Given the description of an element on the screen output the (x, y) to click on. 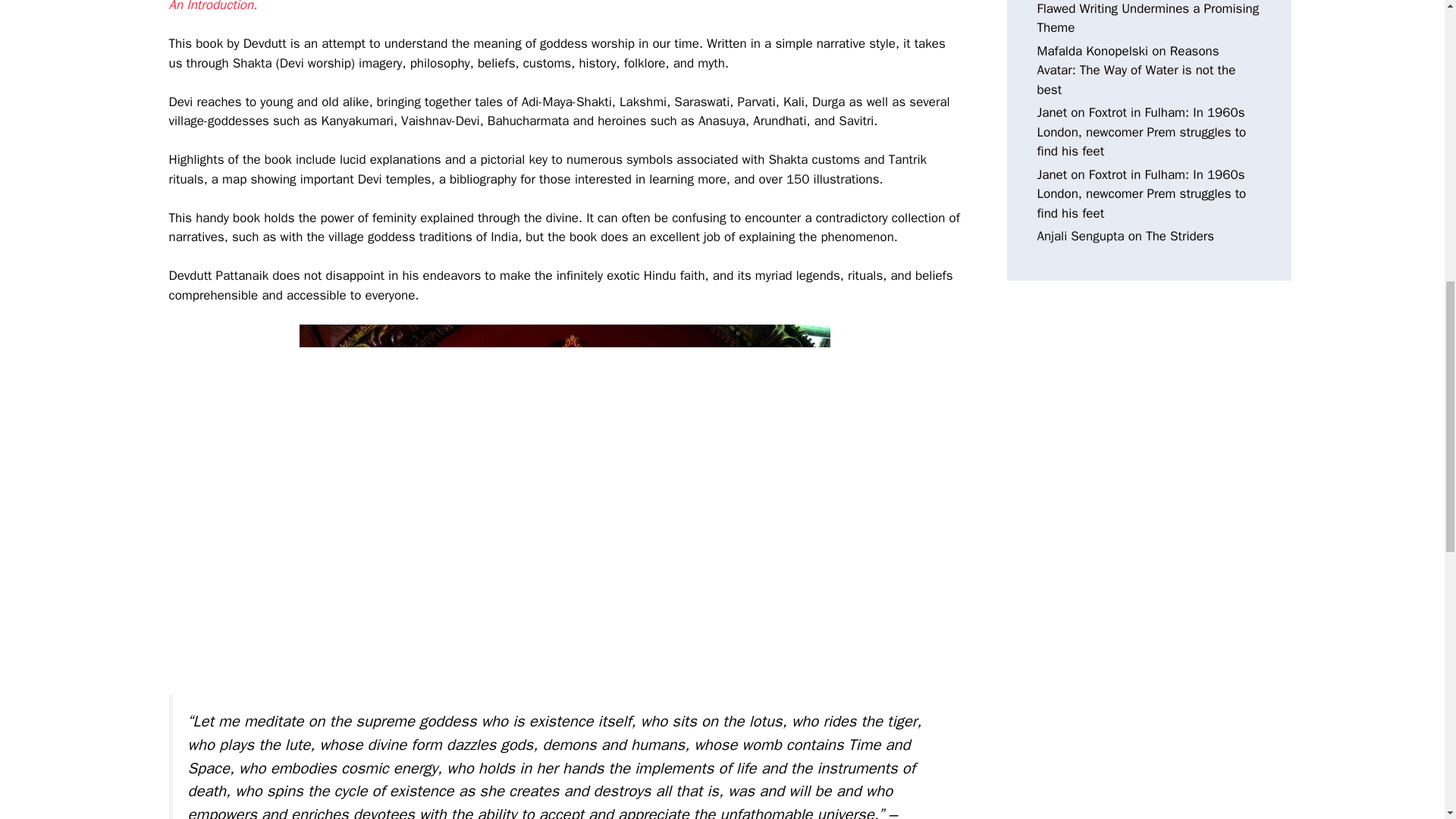
Mafalda Konopelski (1092, 50)
Reasons Avatar: The Way of Water is not the best (1136, 70)
Devi, The Mother Goddess: An Introduction. (559, 6)
Scroll back to top (1406, 720)
